Given the description of an element on the screen output the (x, y) to click on. 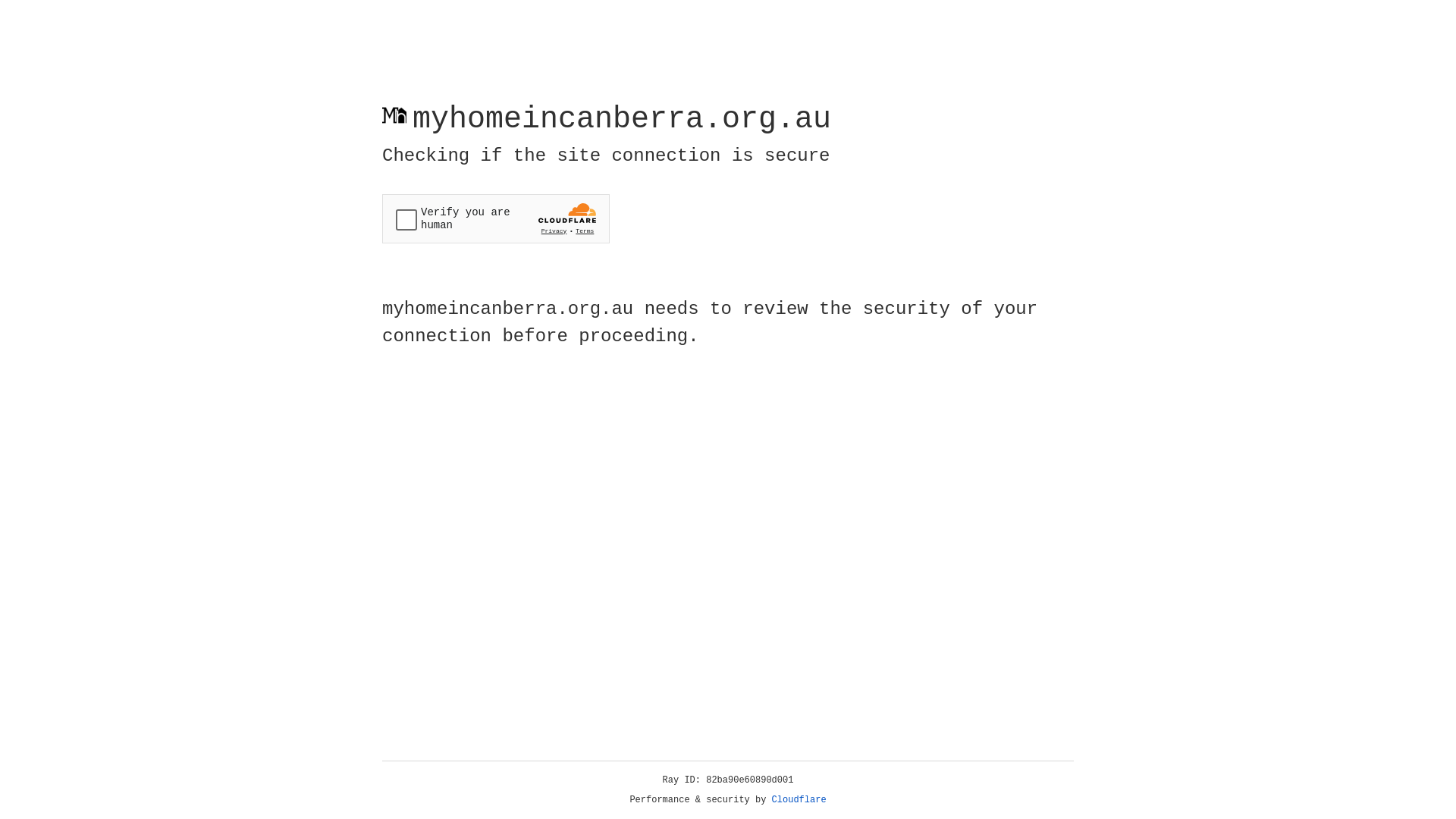
Cloudflare Element type: text (798, 799)
Widget containing a Cloudflare security challenge Element type: hover (495, 218)
